Given the description of an element on the screen output the (x, y) to click on. 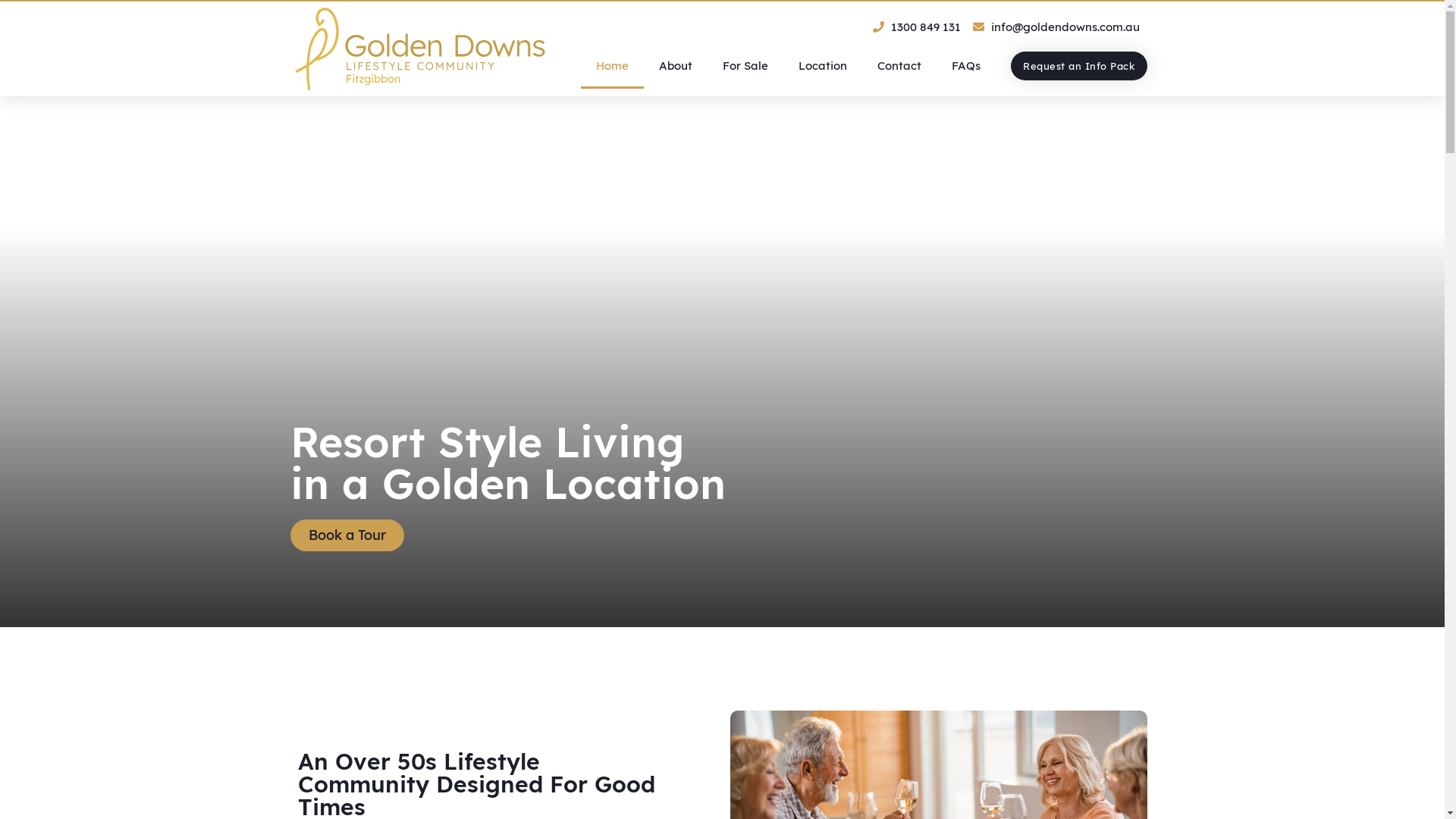
For Sale Element type: text (745, 65)
About Element type: text (675, 65)
info@goldendowns.com.au Element type: text (1055, 26)
Home Element type: text (611, 65)
1300 849 131 Element type: text (916, 26)
Request an Info Pack Element type: text (1078, 65)
Book a Tour Element type: text (346, 535)
FAQs Element type: text (965, 65)
Contact Element type: text (899, 65)
Location Element type: text (822, 65)
